Given the description of an element on the screen output the (x, y) to click on. 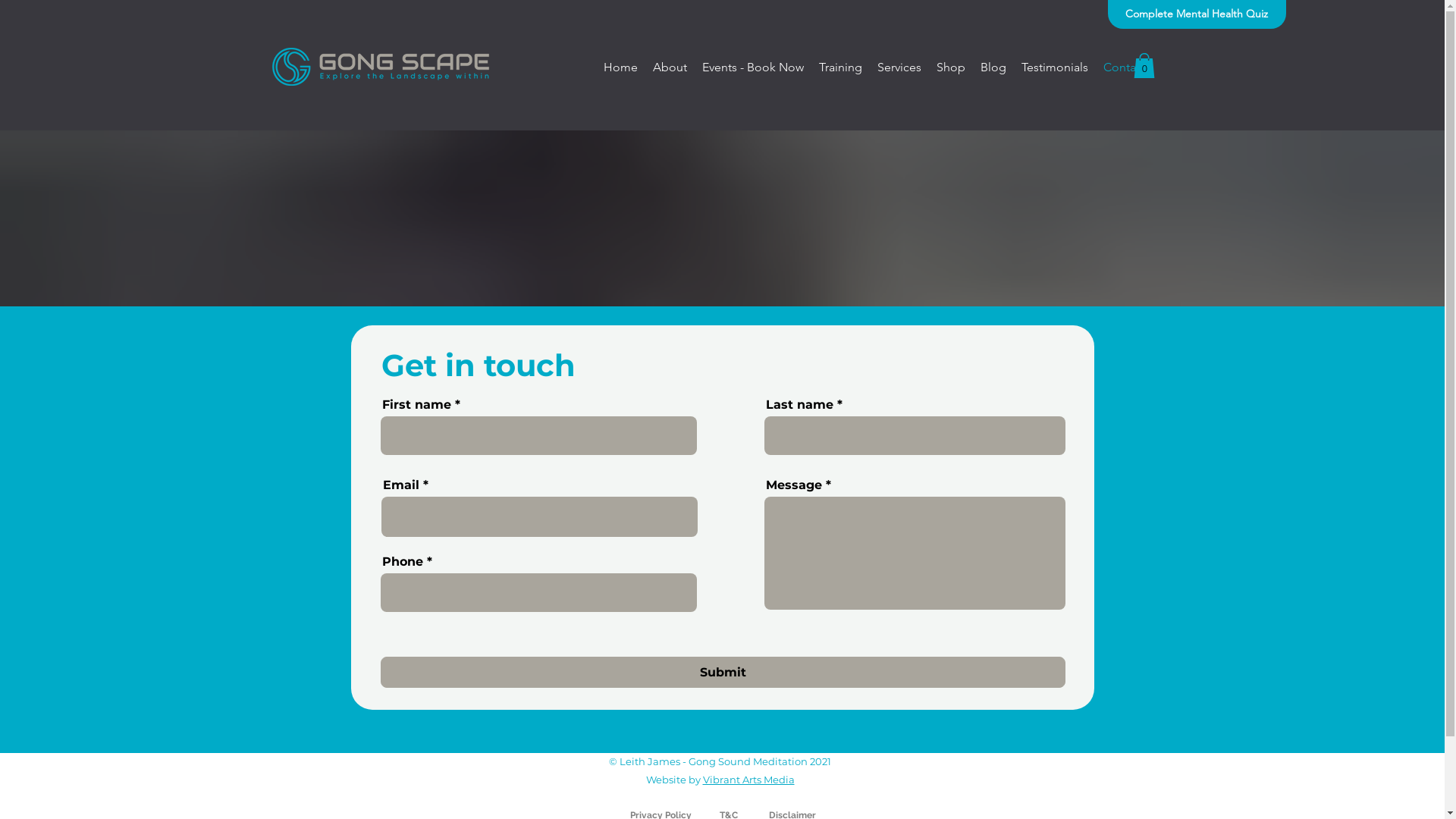
Complete Mental Health Quiz Element type: text (1196, 14)
Events - Book Now Element type: text (752, 69)
Blog Element type: text (992, 69)
0 Element type: text (1143, 65)
Vibrant Arts Media Element type: text (747, 779)
Contact Element type: text (1123, 69)
Submit Element type: text (722, 671)
Services Element type: text (898, 69)
About Element type: text (668, 69)
Shop Element type: text (950, 69)
Testimonials Element type: text (1054, 69)
Home Element type: text (620, 69)
